Given the description of an element on the screen output the (x, y) to click on. 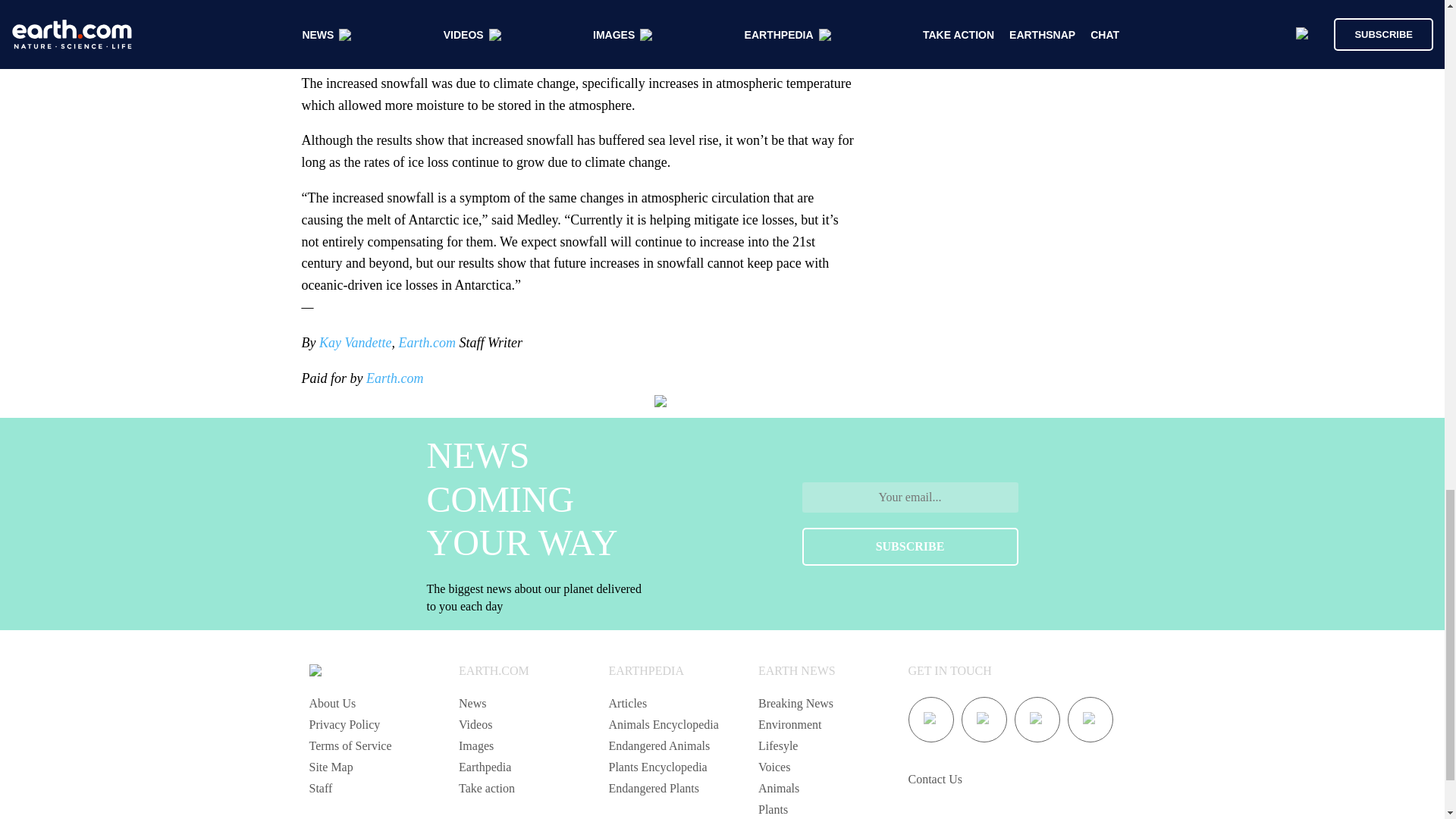
Kay Vandette (354, 342)
SUBSCRIBE (909, 546)
Earth.com (424, 342)
Earth.com (394, 378)
